Given the description of an element on the screen output the (x, y) to click on. 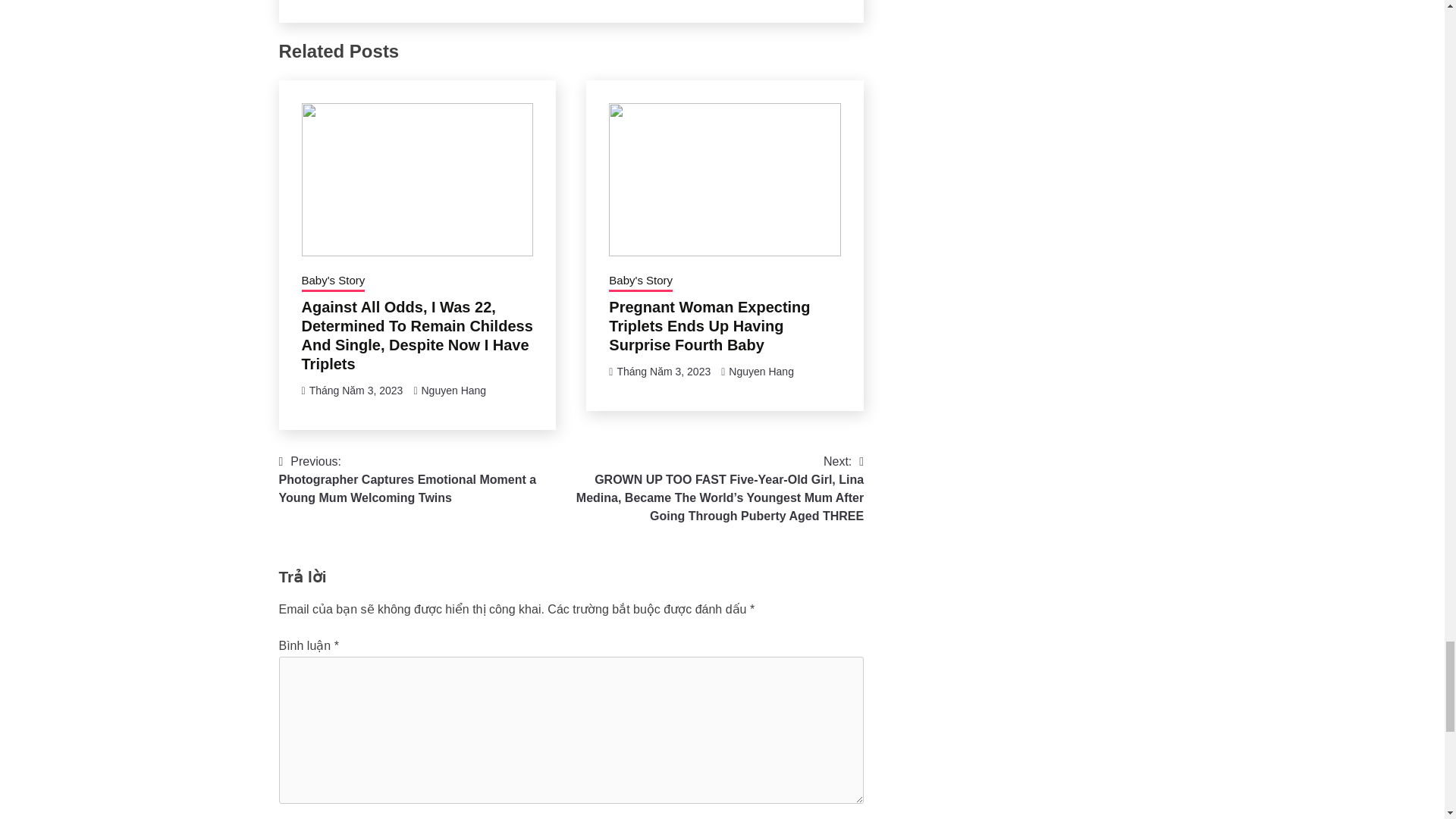
Nguyen Hang (761, 371)
Nguyen Hang (454, 390)
Baby's Story (333, 281)
Baby's Story (640, 281)
